Given the description of an element on the screen output the (x, y) to click on. 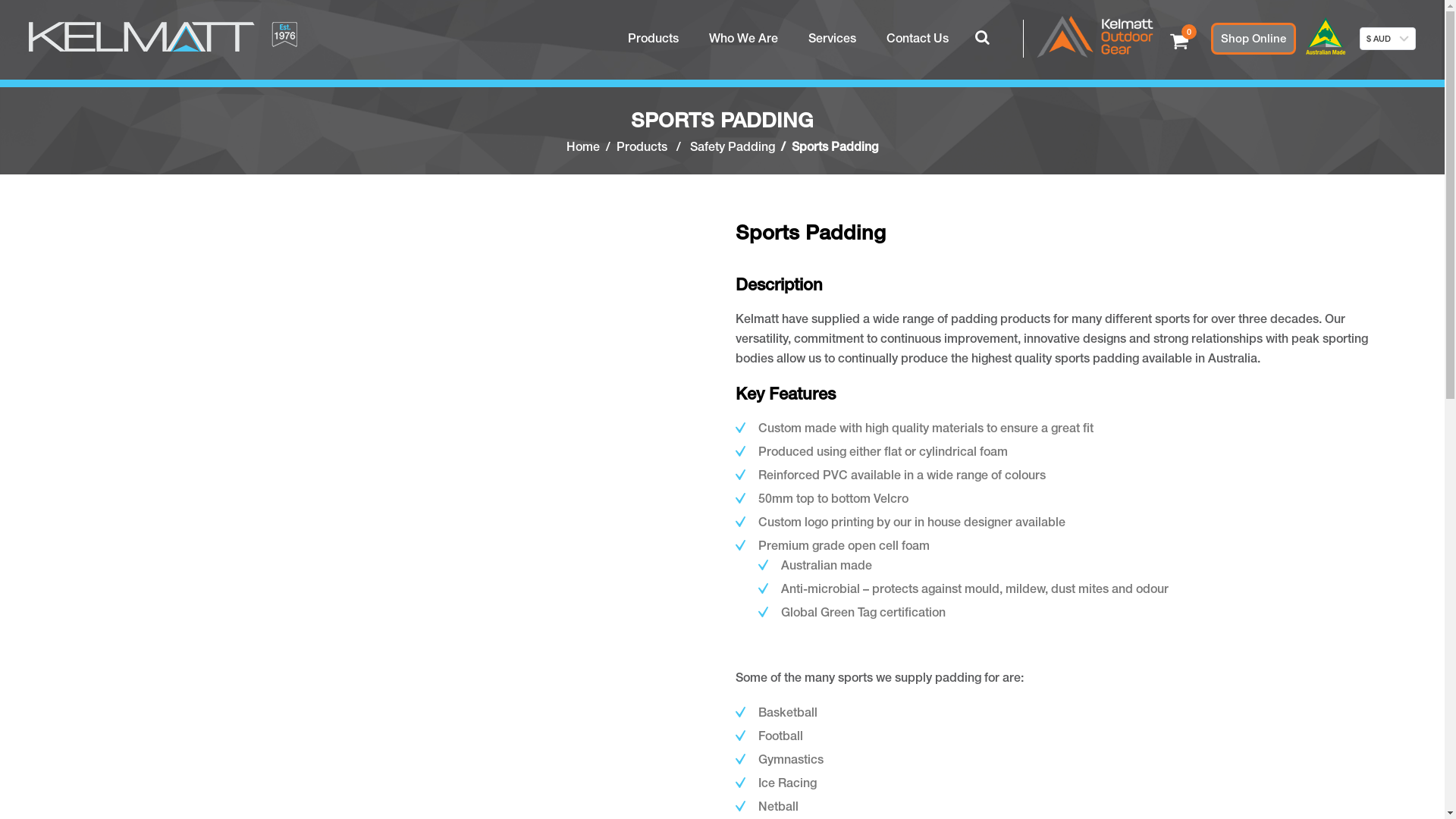
Who We Are Element type: text (743, 39)
Products Element type: text (652, 39)
Home Element type: text (582, 146)
Safety Padding Element type: text (732, 146)
Services Element type: text (832, 39)
0 Element type: text (1179, 44)
KELMATT - WE MAKE STUFF Element type: text (162, 39)
Shop Online Element type: text (1253, 38)
Contact Us Element type: text (917, 39)
